Given the description of an element on the screen output the (x, y) to click on. 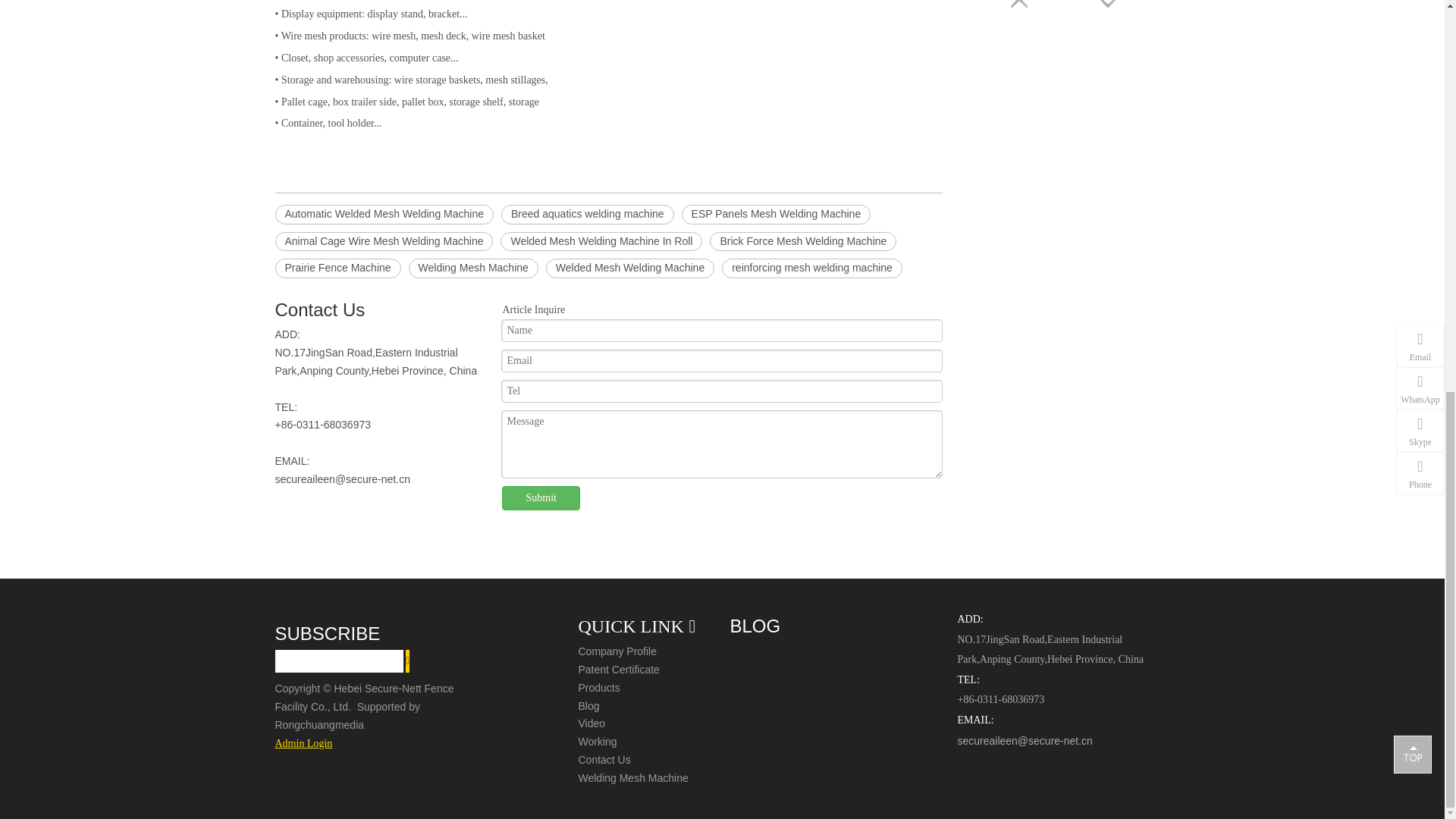
ESP Panels Mesh Welding Machine (775, 214)
reinforcing mesh welding machine (812, 268)
Animal Cage Wire Mesh Welding Machine (384, 241)
Prairie Fence Machine (337, 268)
Brick Force Mesh Welding Machine (803, 241)
Welded Mesh Welding Machine (630, 268)
Automatic Welded Mesh Welding Machine (384, 214)
Breed aquatics welding machine (587, 214)
Welded Mesh Welding Machine In Roll (600, 241)
Brick Force Mesh Welding Machine (803, 241)
Prairie Fence Machine (337, 268)
Welding Mesh Machine (473, 268)
Animal Cage Wire Mesh Welding Machine (384, 241)
ESP Panels Mesh Welding Machine (775, 214)
Welding Mesh Machine (473, 268)
